Given the description of an element on the screen output the (x, y) to click on. 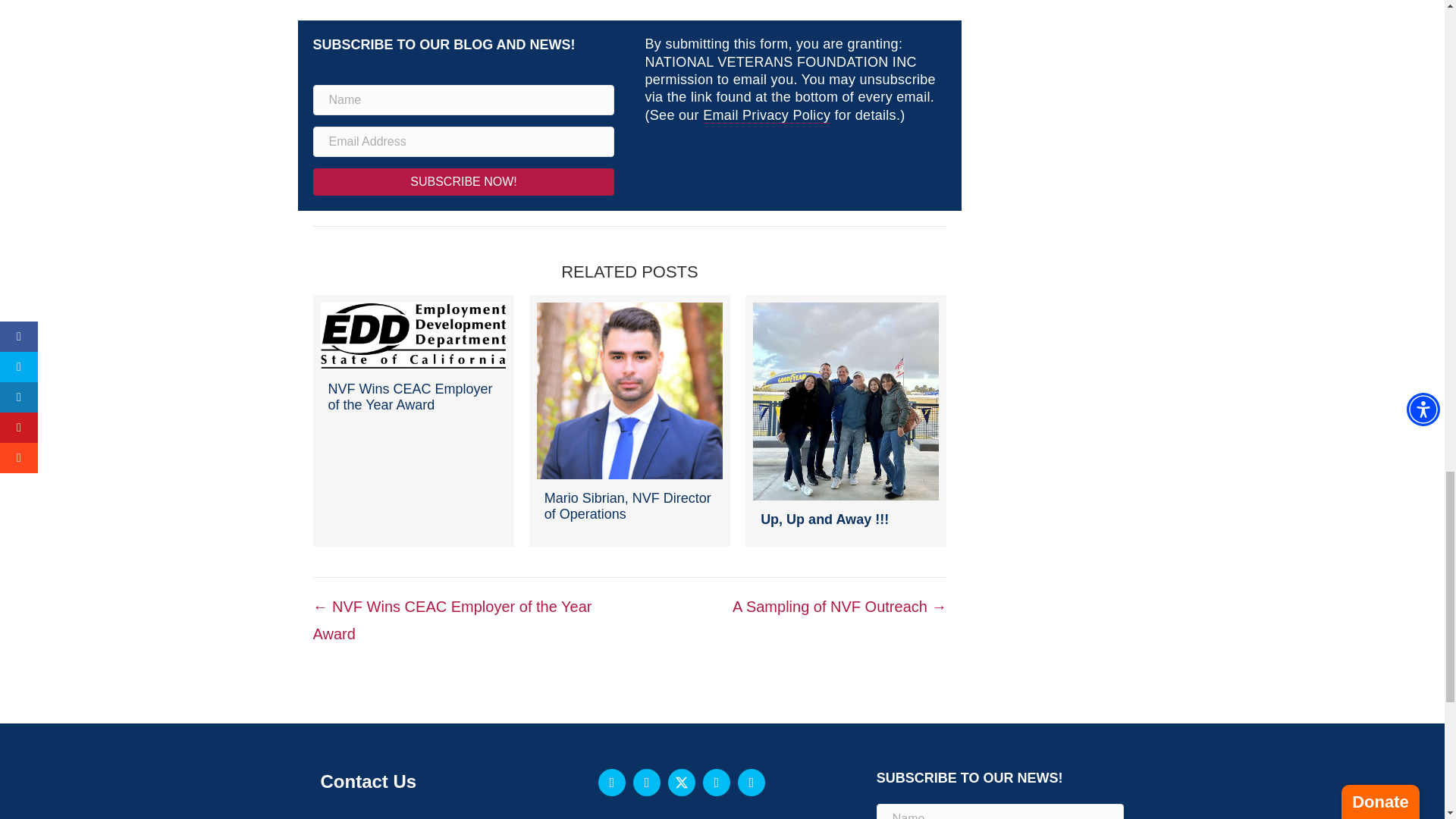
NVF Wins CEAC Employer of the Year Award (413, 420)
Up, Up and Away !!! (845, 420)
group-photo-blimp (845, 401)
YouTube (716, 782)
Instagram (647, 782)
eddlogo (412, 336)
SW-Law-Profile-Pic-copy (629, 390)
Mario Sibrian, NVF Director of Operations (629, 420)
Facebook (612, 782)
